Given the description of an element on the screen output the (x, y) to click on. 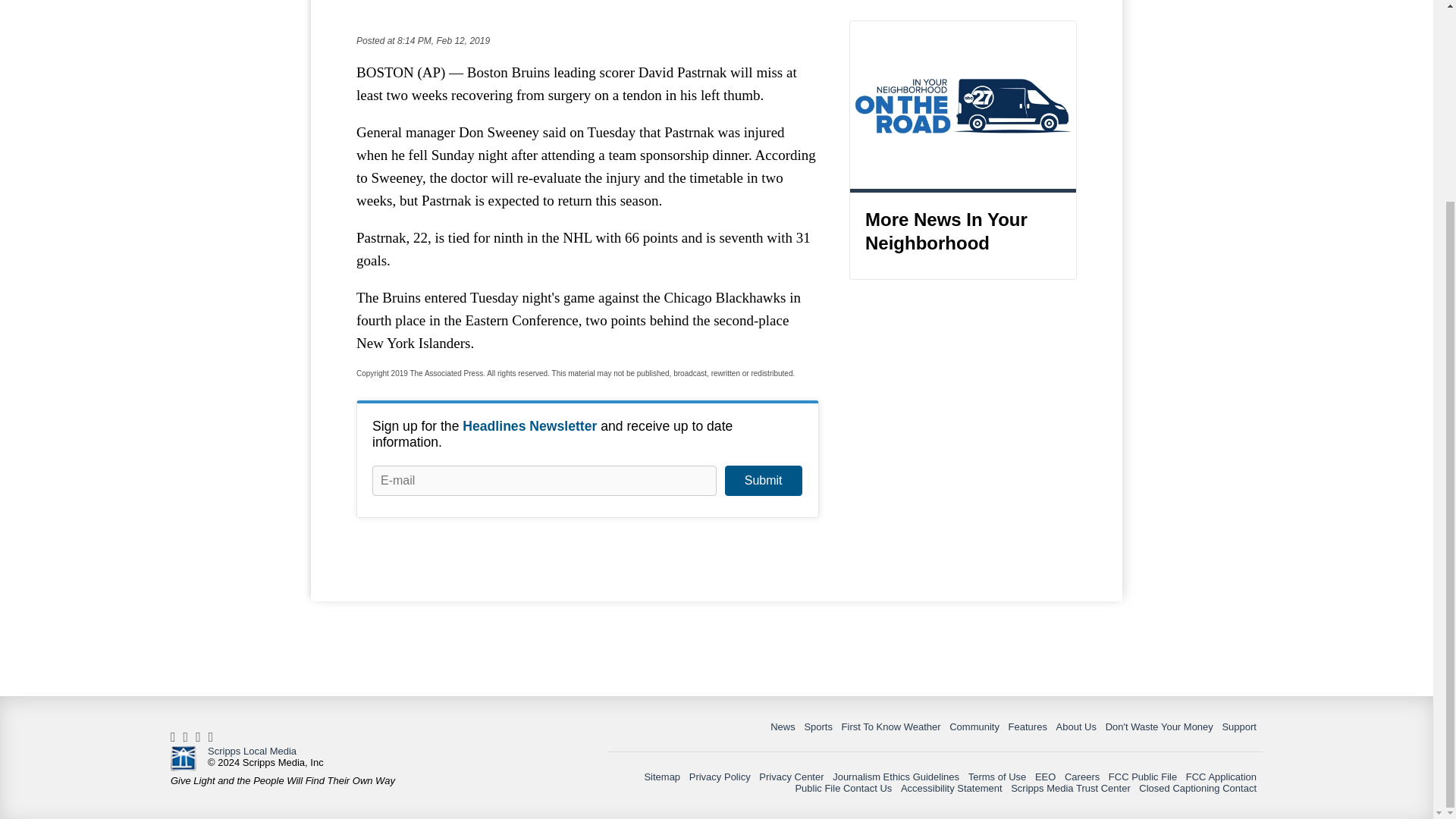
Submit (763, 481)
